Given the description of an element on the screen output the (x, y) to click on. 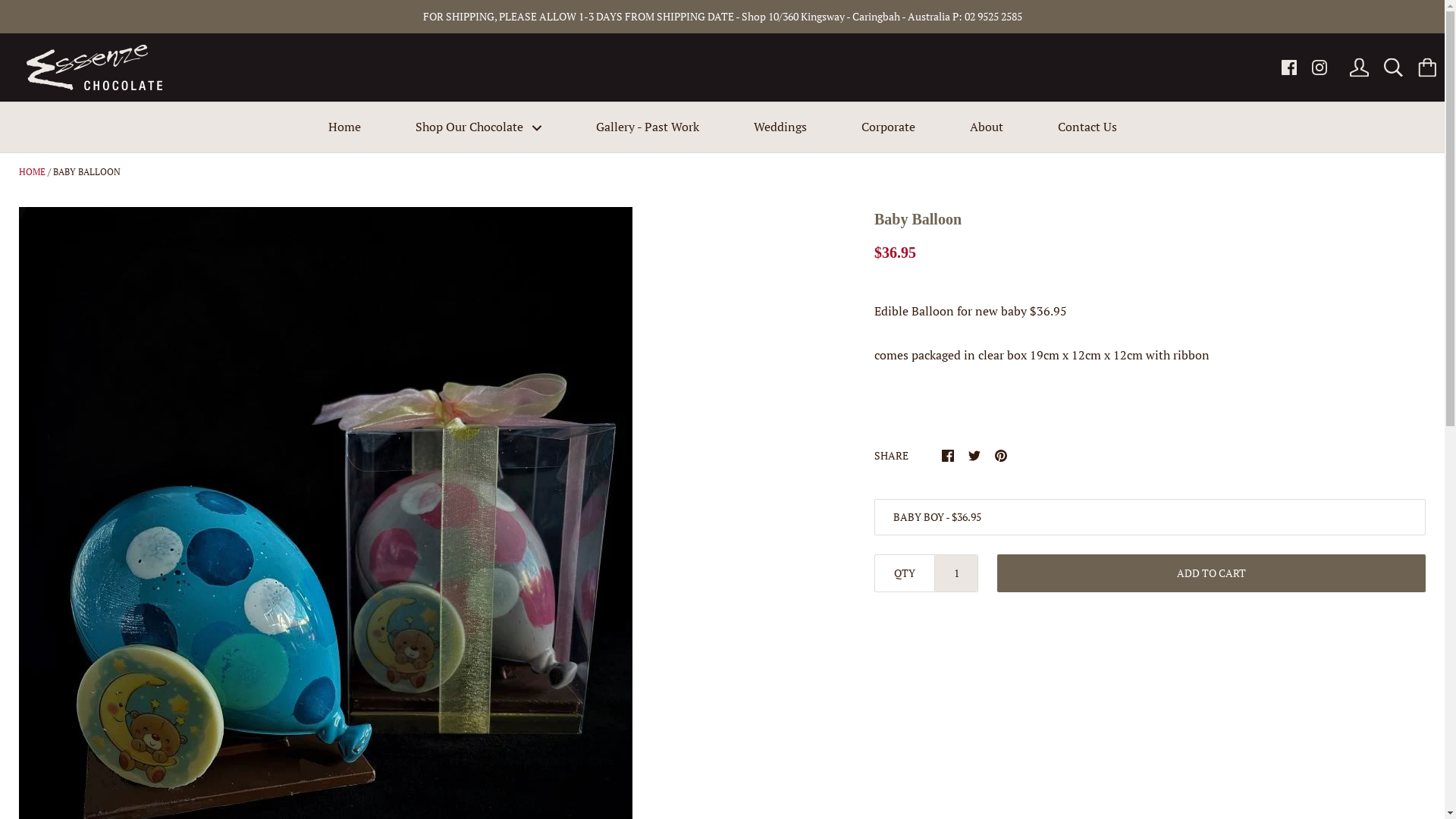
Shop Our Chocolate Element type: text (478, 127)
Weddings Element type: text (780, 127)
HOME Element type: text (31, 171)
Corporate Element type: text (888, 127)
Home Element type: text (343, 127)
Gallery - Past Work Element type: text (647, 127)
Contact Us Element type: text (1086, 127)
About Element type: text (985, 127)
ADD TO CART Element type: text (1211, 573)
